Given the description of an element on the screen output the (x, y) to click on. 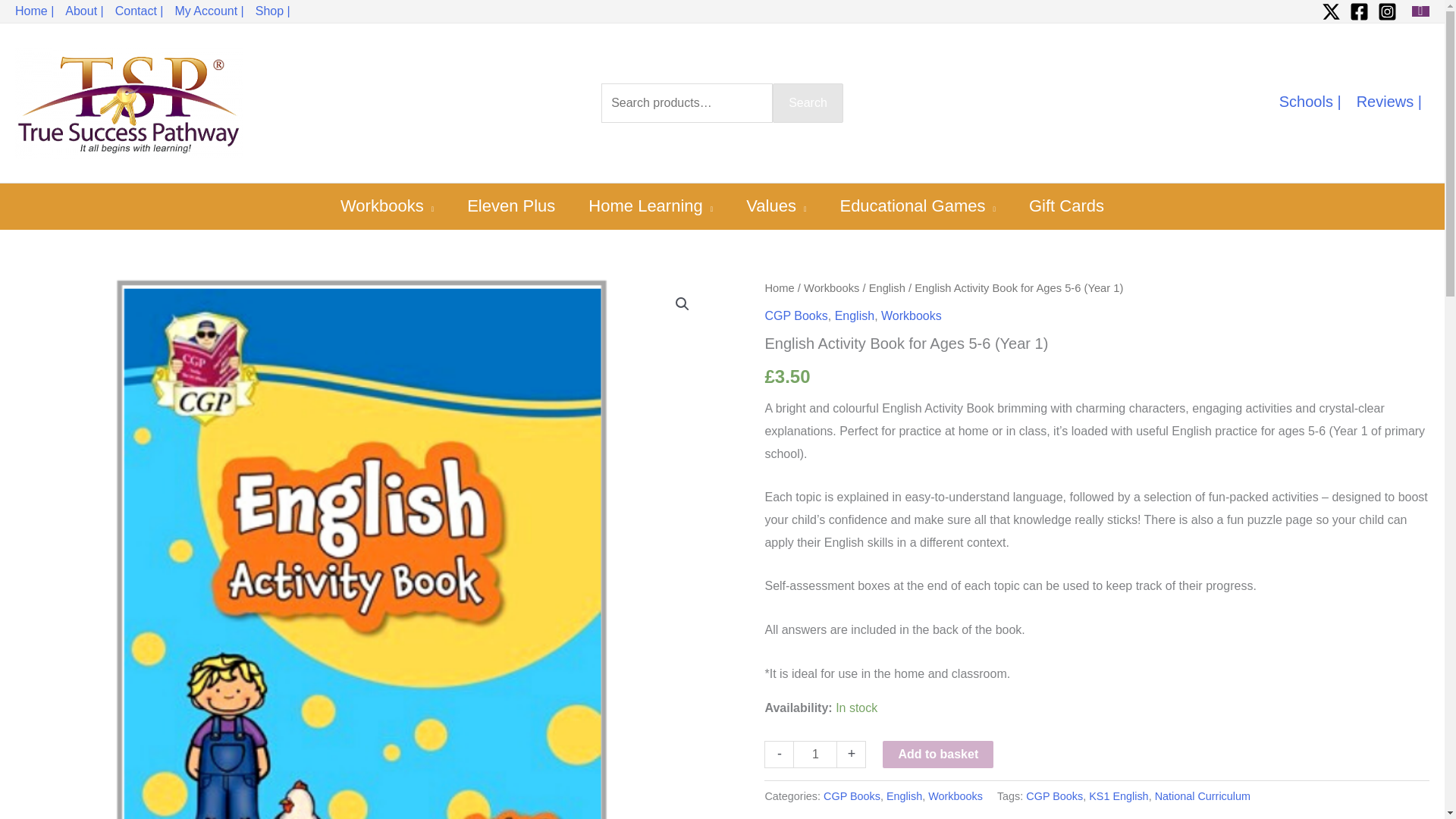
Home Learning (650, 205)
Eleven Plus (510, 205)
Search (808, 102)
1 (815, 754)
Workbooks (386, 205)
